Given the description of an element on the screen output the (x, y) to click on. 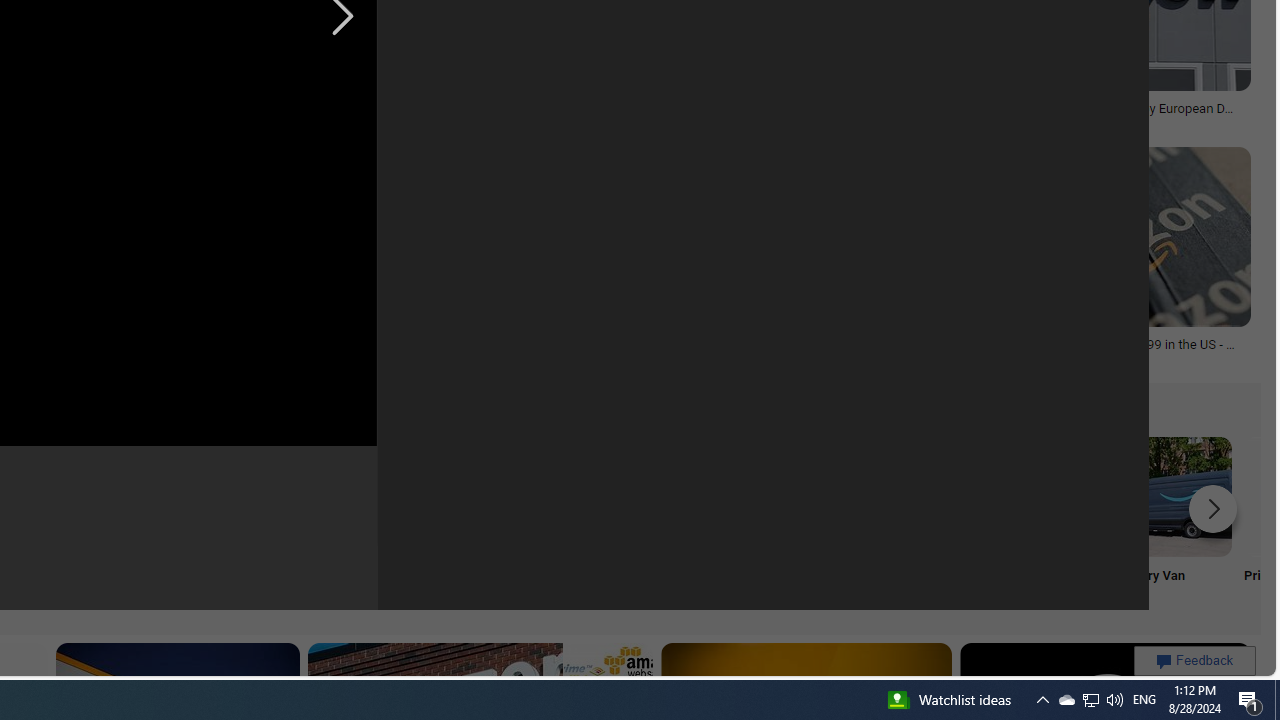
Official Website (907, 521)
Online Shopping Homepage (248, 521)
Amazon Visa Card Login (643, 496)
Delivery Van (1171, 521)
Amazon Delivery Van (1171, 496)
Image result for amazon (1098, 236)
theverge.com (994, 358)
PC World (237, 121)
amazon.com.mx (669, 358)
Amazon Sale Items Sale Items (775, 521)
latimes.com (347, 358)
Visa Card Login (643, 521)
thewrap.com (1095, 123)
